Given the description of an element on the screen output the (x, y) to click on. 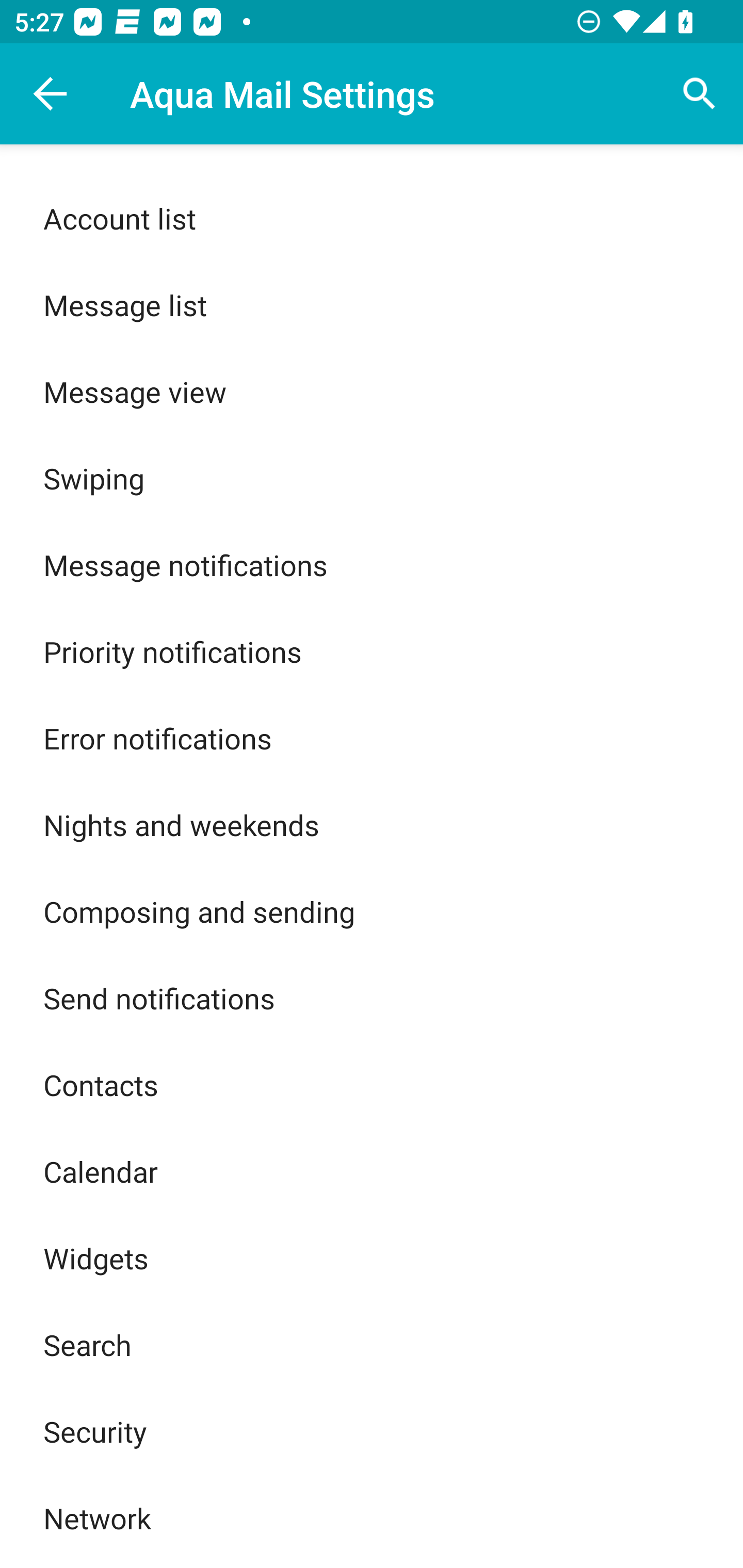
Navigate up (50, 93)
Search (699, 93)
Account list (371, 218)
Message list (371, 304)
Message view (371, 391)
Swiping (371, 478)
Message notifications (371, 565)
Priority notifications (371, 651)
Error notifications (371, 737)
Nights and weekends (371, 824)
Composing and sending (371, 911)
Send notifications (371, 997)
Contacts (371, 1084)
Calendar (371, 1171)
Widgets (371, 1258)
Search (371, 1344)
Security (371, 1430)
Network (371, 1517)
